Given the description of an element on the screen output the (x, y) to click on. 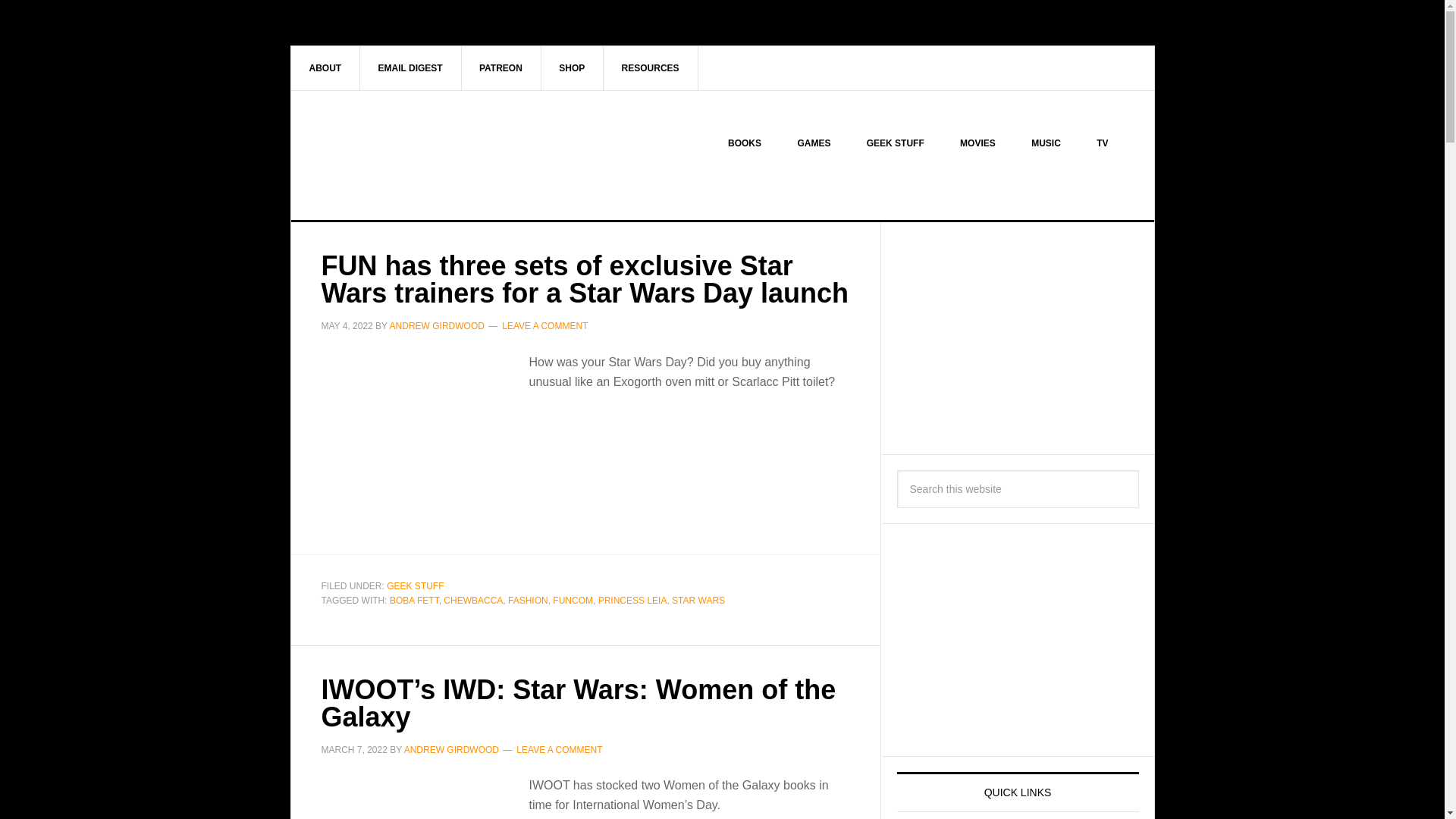
GAMES (813, 143)
ABOUT (326, 67)
GEEK STUFF (895, 143)
TV (1101, 143)
GEEK NATIVE (419, 155)
MUSIC (1045, 143)
EMAIL DIGEST (410, 67)
SHOP (572, 67)
BOOKS (744, 143)
